Given the description of an element on the screen output the (x, y) to click on. 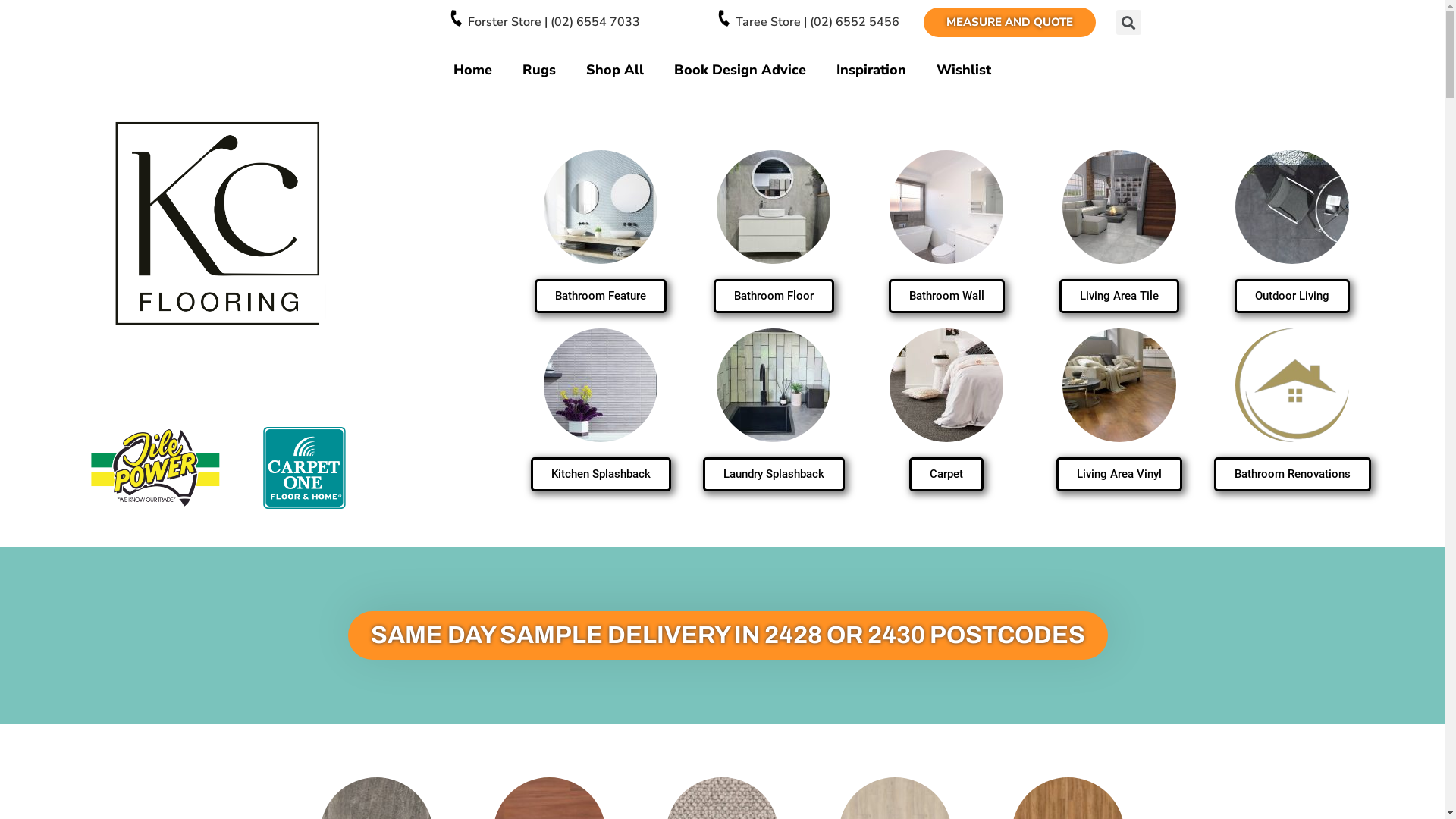
Wishlist Element type: text (963, 69)
Book Design Advice Element type: text (739, 69)
Living Area Tile Element type: text (1119, 296)
Forster Store | (02) 6554 7033 Element type: text (553, 21)
Inspiration Element type: text (871, 69)
Bathroom Feature Element type: text (600, 296)
Home Element type: text (472, 69)
Kitchen Splashback Element type: text (600, 474)
Rugs Element type: text (539, 69)
Living Area Vinyl Element type: text (1119, 474)
Bathroom Wall Element type: text (946, 296)
Bathroom Renovations Element type: text (1291, 474)
Laundry Splashback Element type: text (773, 474)
MEASURE AND QUOTE Element type: text (1009, 22)
Taree Store | (02) 6552 5456 Element type: text (817, 21)
SAME DAY SAMPLE DELIVERY IN 2428 OR 2430 POSTCODES Element type: text (727, 635)
Shop All Element type: text (614, 69)
Bathroom Floor Element type: text (772, 296)
Outdoor Living Element type: text (1291, 296)
Carpet Element type: text (946, 474)
